Given the description of an element on the screen output the (x, y) to click on. 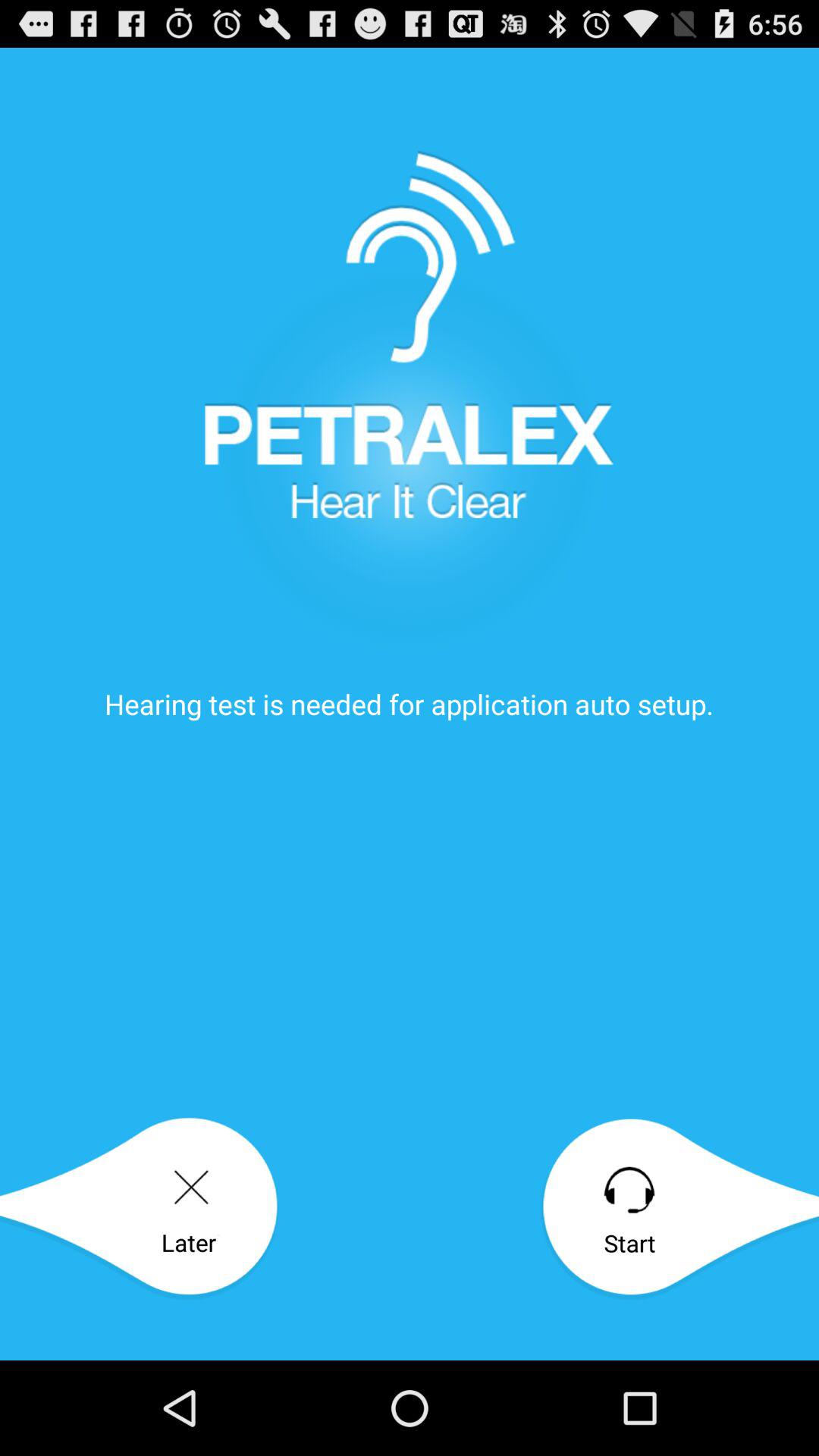
select the later (139, 1208)
